Given the description of an element on the screen output the (x, y) to click on. 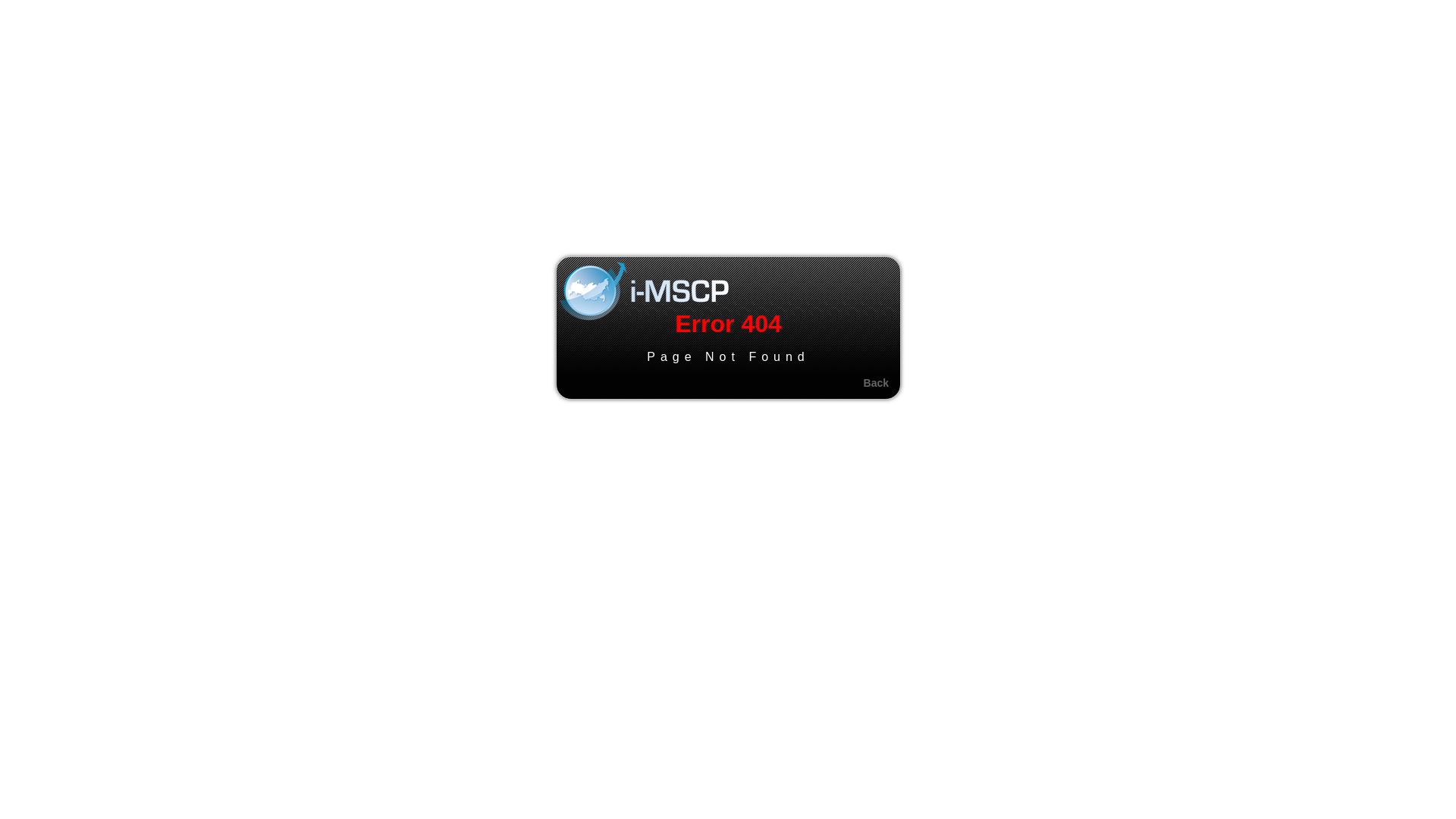
Back Element type: text (875, 382)
